Given the description of an element on the screen output the (x, y) to click on. 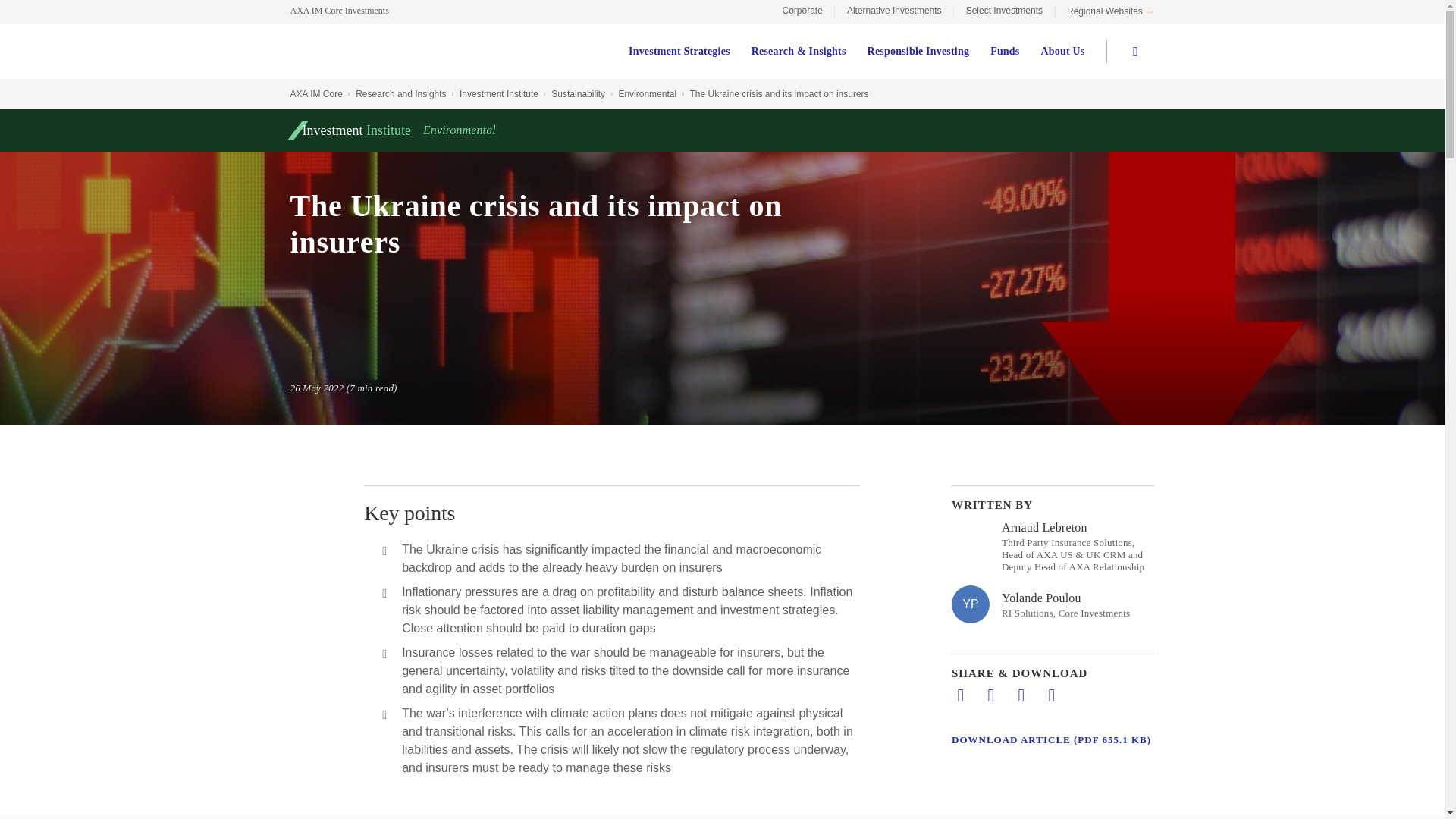
AXA IM Core Investments, Home (346, 10)
Shared by mail (1020, 695)
Regional Websites (1108, 12)
Alternative Investments (893, 12)
Select Investments (1003, 12)
Copy URL (1051, 695)
Share on twitter (990, 695)
Share on LinkedIn (960, 695)
Corporate (802, 12)
Regional Websites (1108, 12)
